Given the description of an element on the screen output the (x, y) to click on. 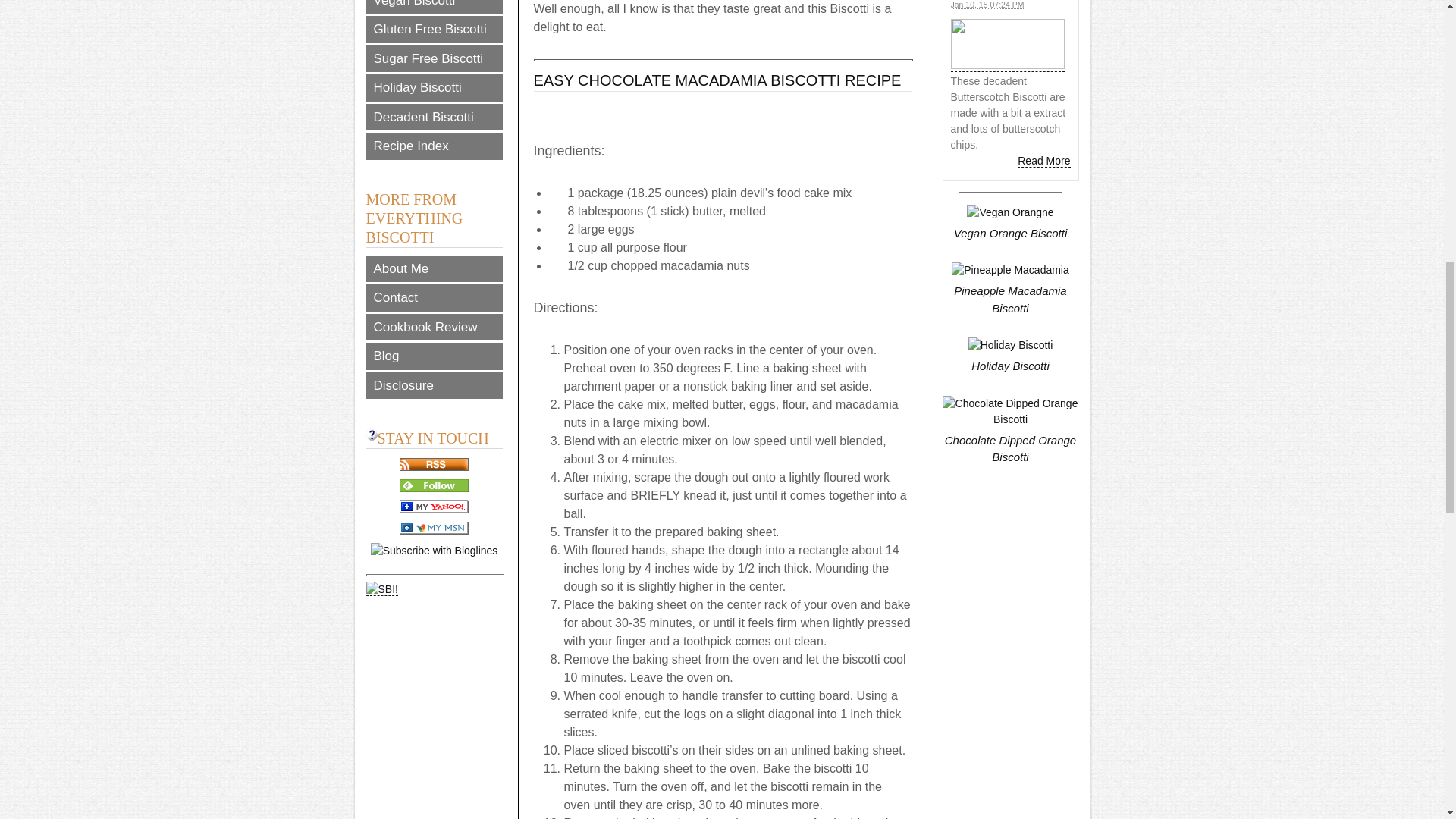
Go to Vegan Orange Biscotti (1010, 224)
Sugar Free Biscotti (433, 58)
Vegan Biscotti (433, 6)
Pineapple Macadamia (1010, 270)
Cookbook Review (433, 327)
Holiday Biscotti (433, 87)
Recipe Index (433, 145)
Go to Chocolate Dipped Orange Biscotti (1010, 439)
2015-01-10T19:24:27-0500 (987, 4)
Decadent Biscotti (433, 116)
